Given the description of an element on the screen output the (x, y) to click on. 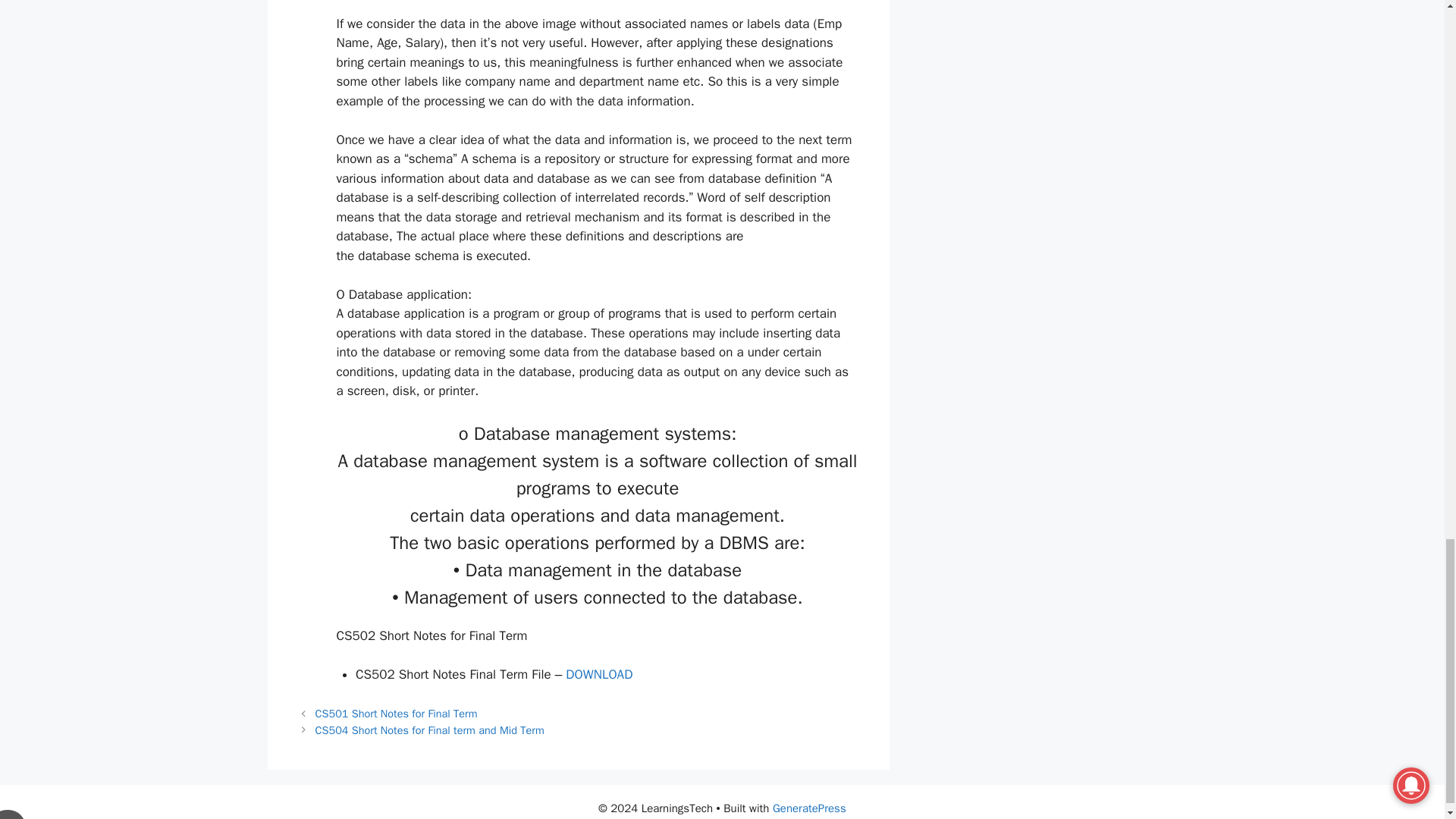
DOWNLOAD (598, 674)
CS504 Short Notes for Final term and Mid Term (429, 730)
CS501 Short Notes for Final Term (396, 713)
